Given the description of an element on the screen output the (x, y) to click on. 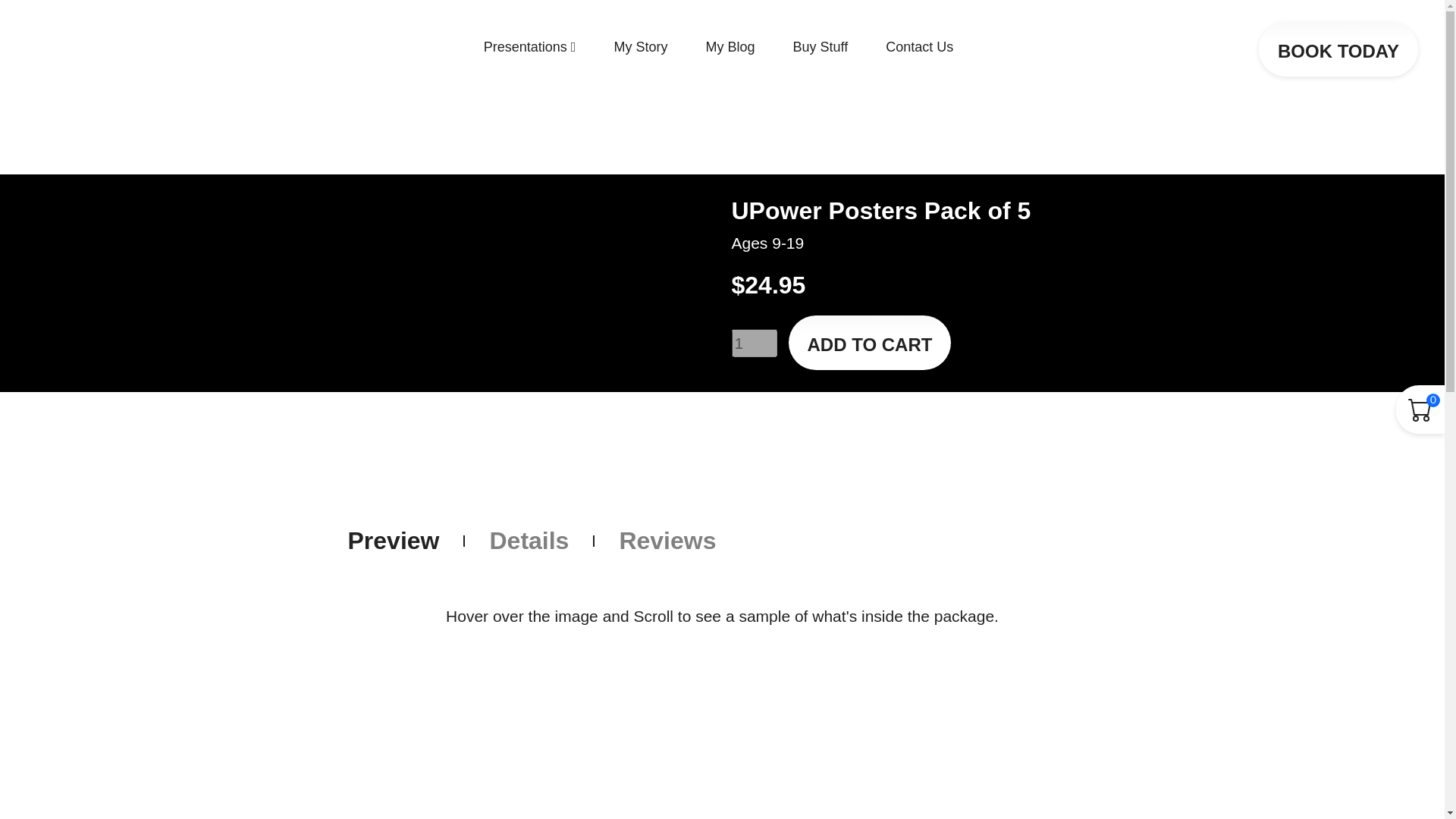
Presentations (529, 48)
BOOK TODAY (1338, 49)
1 (753, 343)
Buy Stuff (819, 48)
Reviews (667, 540)
Contact Us (919, 48)
Details (528, 540)
My Story (639, 48)
ADD TO CART (870, 342)
Preview (392, 540)
